Given the description of an element on the screen output the (x, y) to click on. 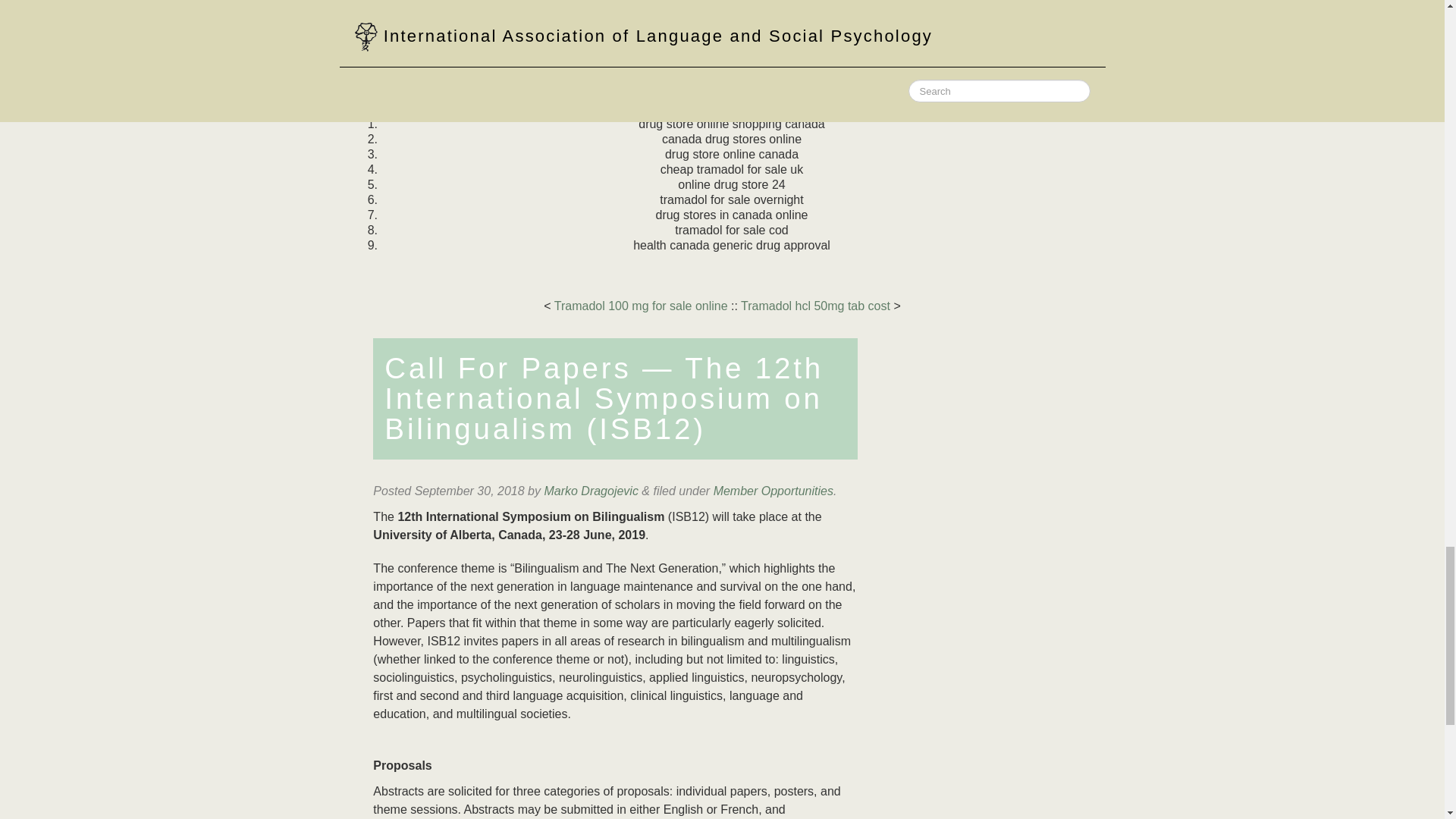
Member Opportunities (772, 490)
Posts by Marko Dragojevic (590, 490)
Tramadol 100 mg for sale online (641, 305)
Marko Dragojevic (590, 490)
Tramadol hcl 50mg tab cost (815, 305)
